Given the description of an element on the screen output the (x, y) to click on. 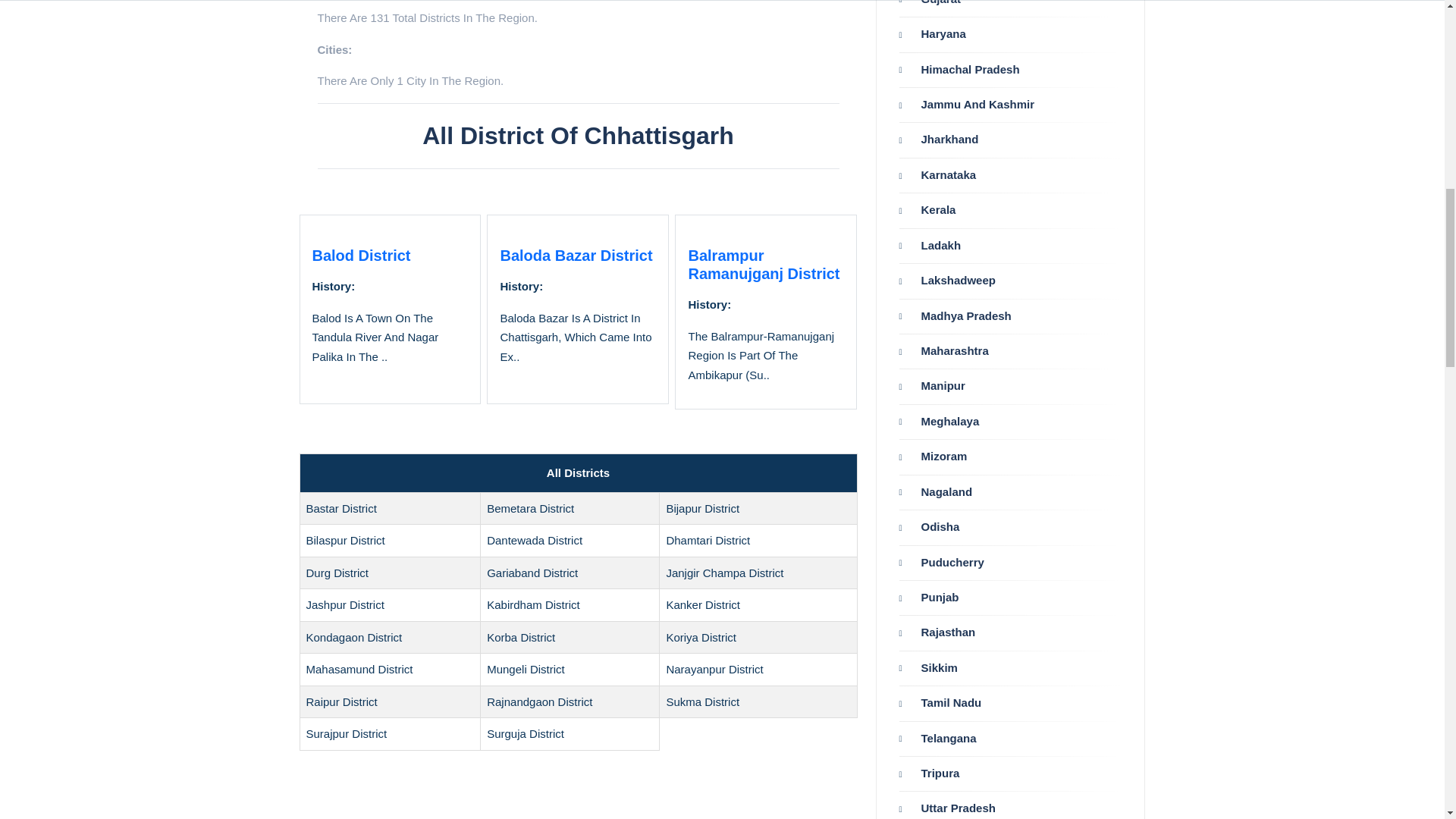
Bemetara District (529, 508)
Kabirdham District (532, 604)
Durg District (337, 572)
Gariaband District (532, 572)
Raipur District (341, 701)
Mahasamund District (359, 668)
Bijapur District (702, 508)
Jashpur District (344, 604)
Bemetara District (529, 508)
Narayanpur District (713, 668)
